Given the description of an element on the screen output the (x, y) to click on. 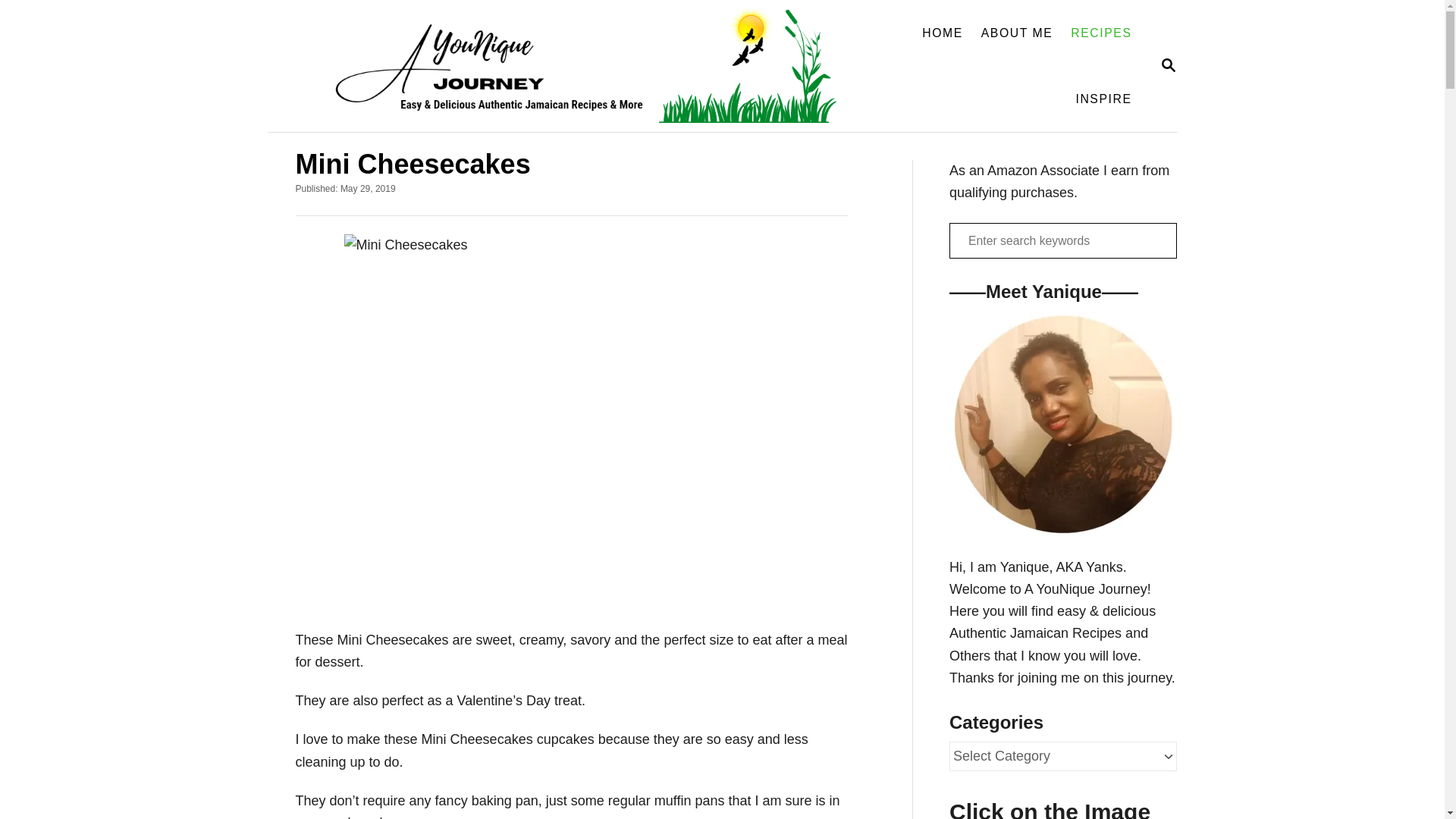
HOME (942, 32)
ABOUT ME (1017, 32)
RECIPES (1167, 65)
Search for: (1100, 32)
INSPIRE (1062, 240)
A YouNique Journey (1102, 99)
MAGNIFYING GLASS (566, 65)
